Given the description of an element on the screen output the (x, y) to click on. 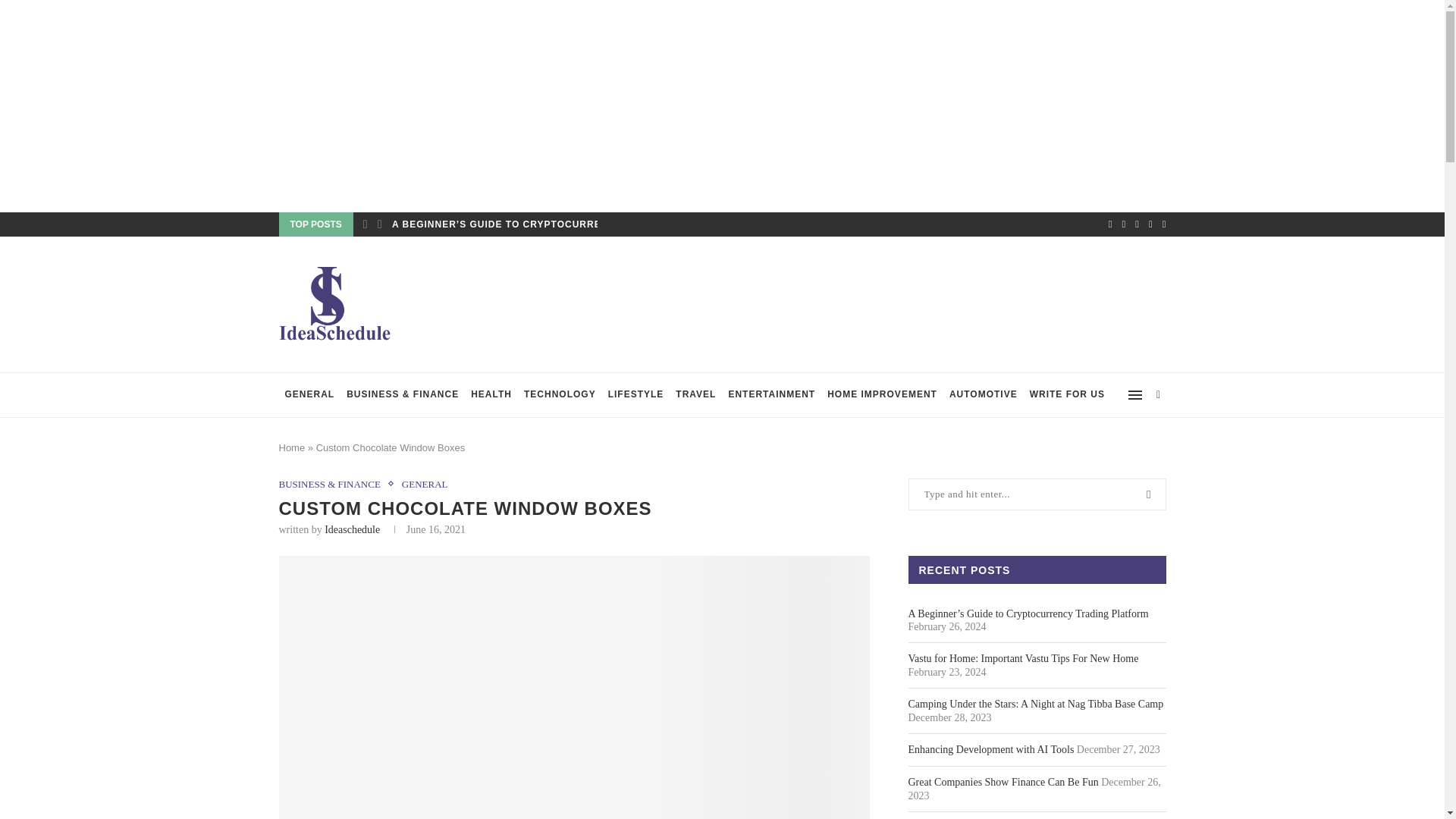
TECHNOLOGY (560, 394)
GENERAL (424, 484)
GENERAL (309, 394)
Home (292, 447)
LIFESTYLE (635, 394)
HOME IMPROVEMENT (882, 394)
Ideaschedule (352, 529)
ENTERTAINMENT (771, 394)
WRITE FOR US (1066, 394)
AUTOMOTIVE (983, 394)
